Given the description of an element on the screen output the (x, y) to click on. 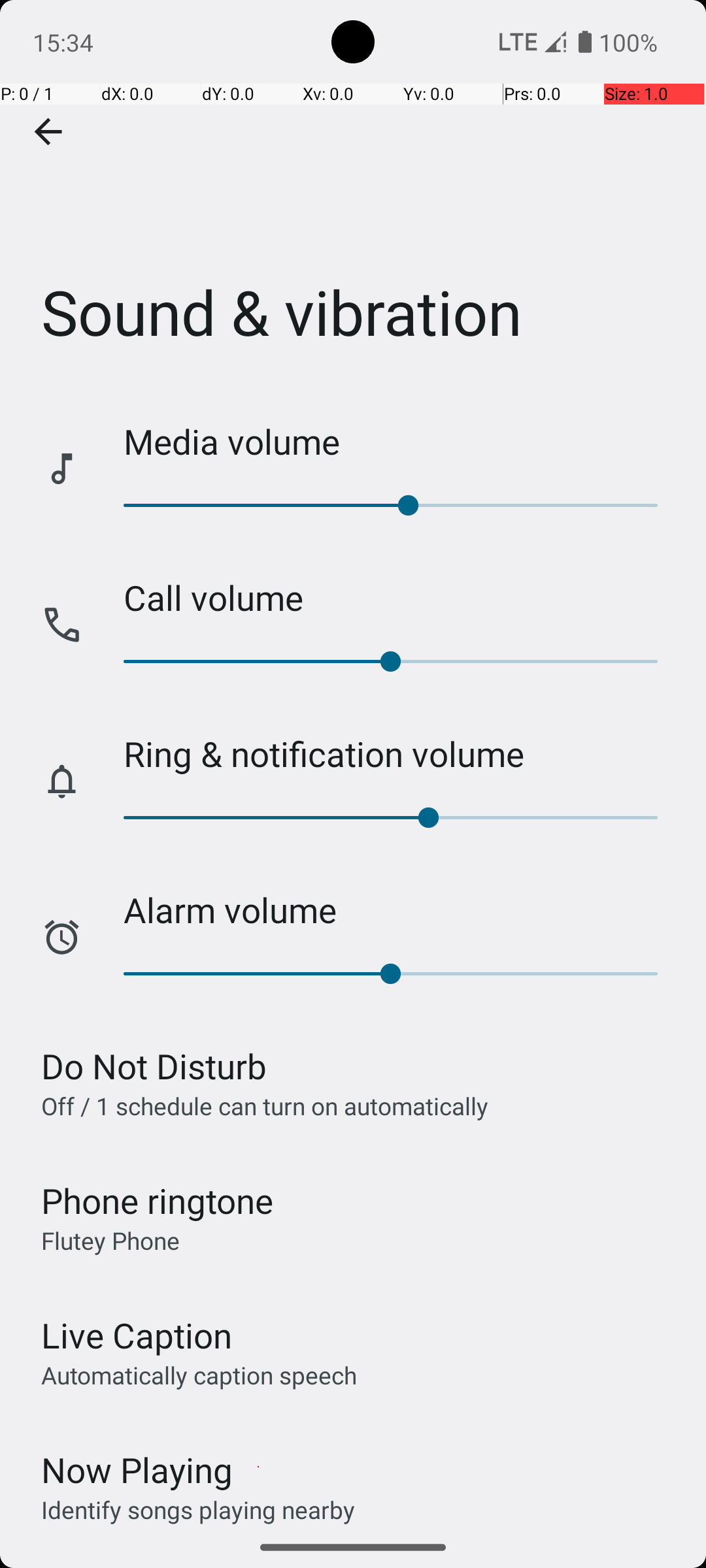
Off / 1 schedule can turn on automatically Element type: android.widget.TextView (264, 1105)
Now Playing Element type: android.widget.TextView (136, 1469)
Identify songs playing nearby Element type: android.widget.TextView (197, 1509)
